Given the description of an element on the screen output the (x, y) to click on. 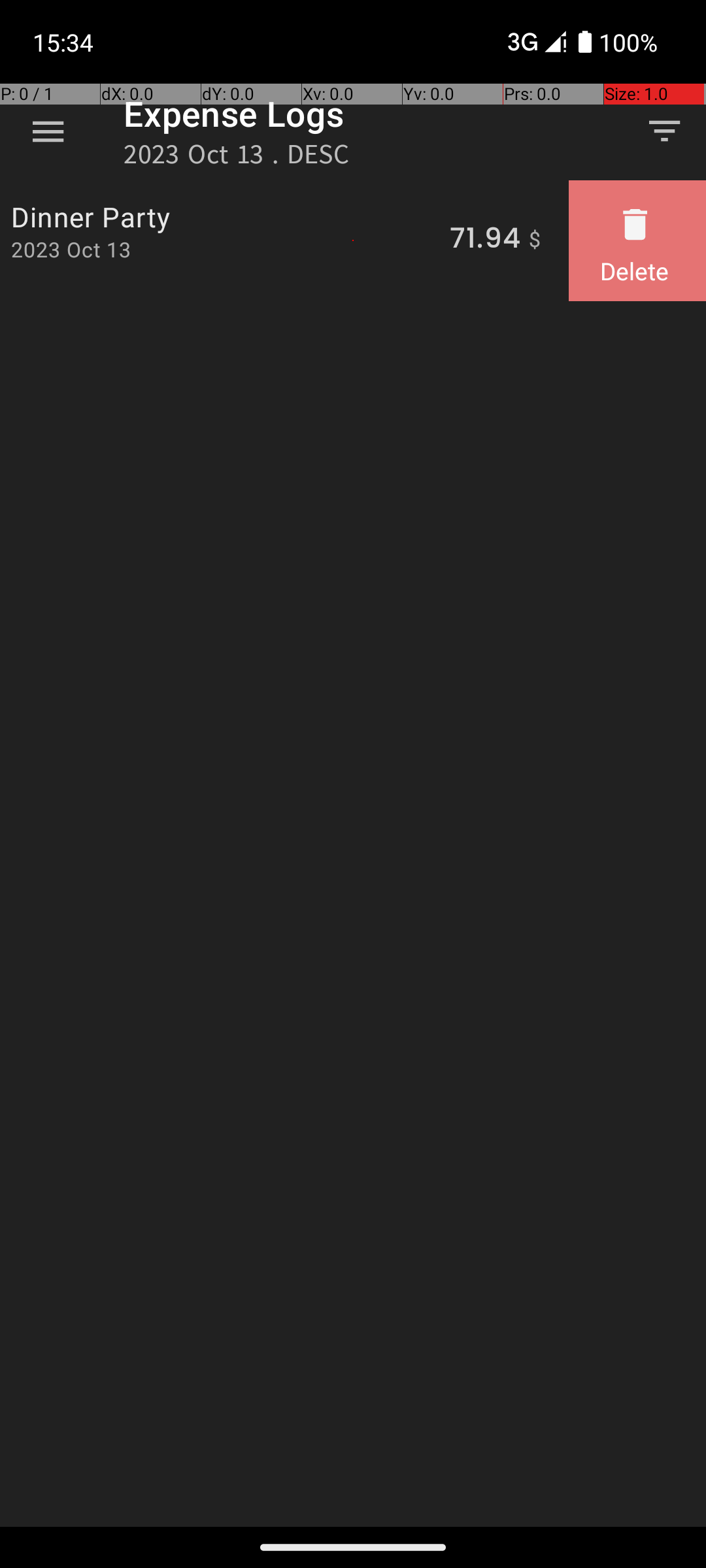
2023 Oct 13 . DESC Element type: android.widget.TextView (236, 157)
Filter Element type: android.widget.TextView (664, 131)
Dinner Party Element type: android.widget.TextView (222, 216)
71.94 Element type: android.widget.TextView (485, 240)
$ Element type: android.widget.TextView (534, 240)
